Given the description of an element on the screen output the (x, y) to click on. 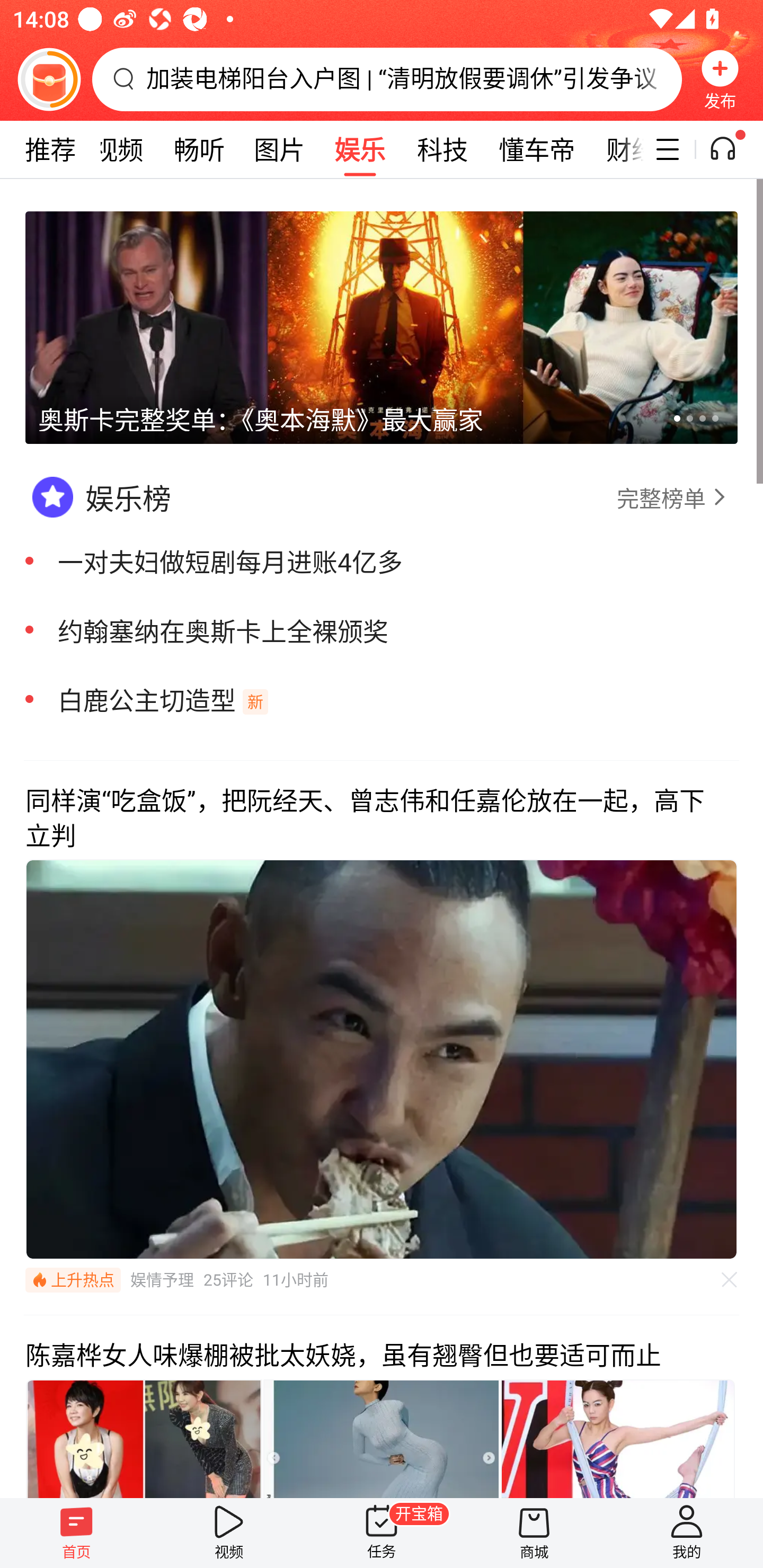
阅读赚金币 (48, 79)
发布 发布，按钮 (720, 78)
发现 (38, 149)
视频 (117, 149)
畅听 (199, 149)
图片 (279, 149)
娱乐 (359, 149)
科技 (442, 149)
懂车帝 (536, 149)
听一听开关 (732, 149)
不感兴趣 (729, 1279)
三张内容图片 内容图片 内容图片 内容图片 (381, 1437)
内容图片 (143, 1437)
内容图片 (381, 1437)
内容图片 (617, 1437)
首页 (76, 1532)
视频 (228, 1532)
任务 开宝箱 (381, 1532)
商城 (533, 1532)
我的 (686, 1532)
